Given the description of an element on the screen output the (x, y) to click on. 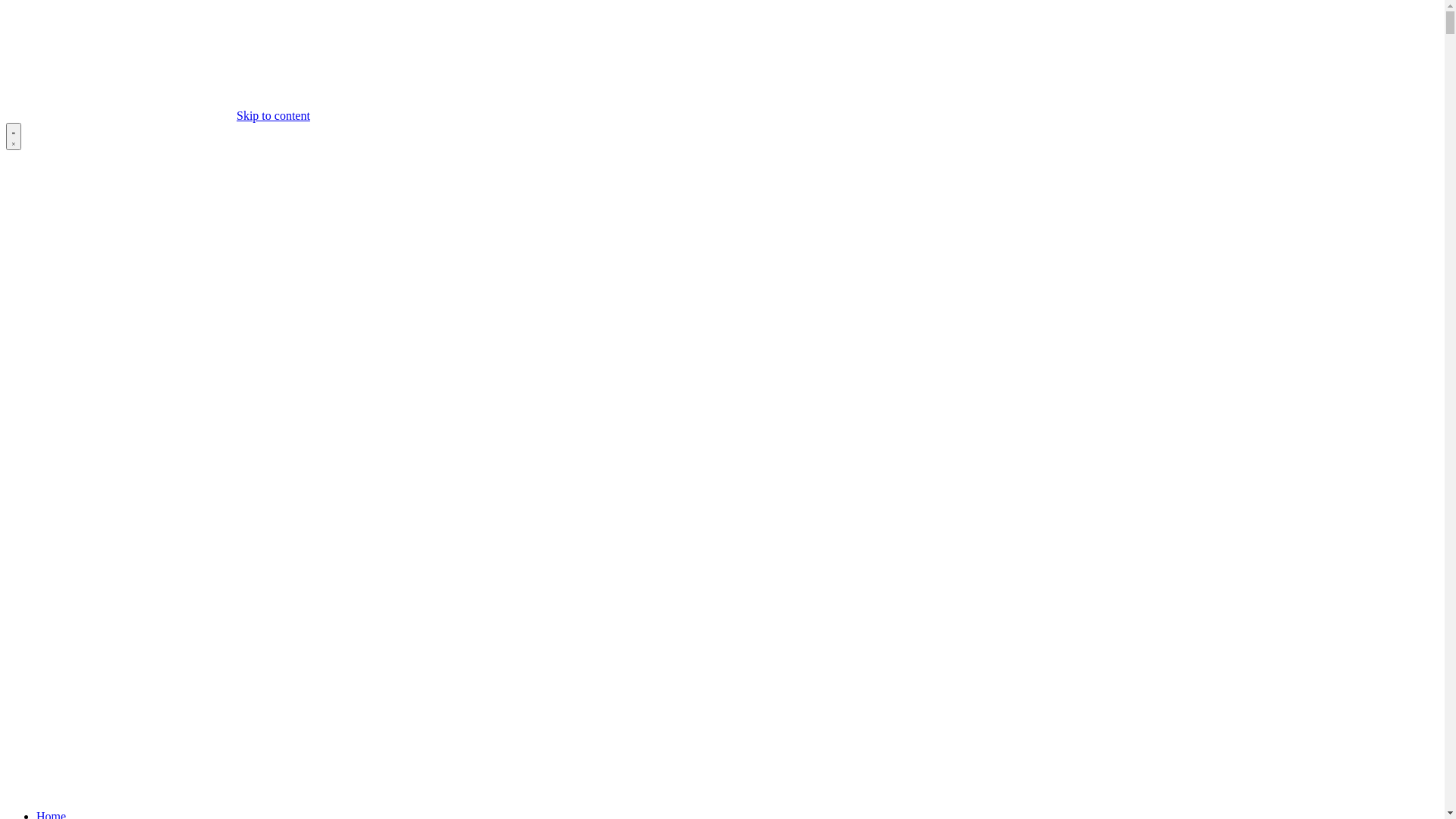
Skip to content Element type: text (273, 115)
